Given the description of an element on the screen output the (x, y) to click on. 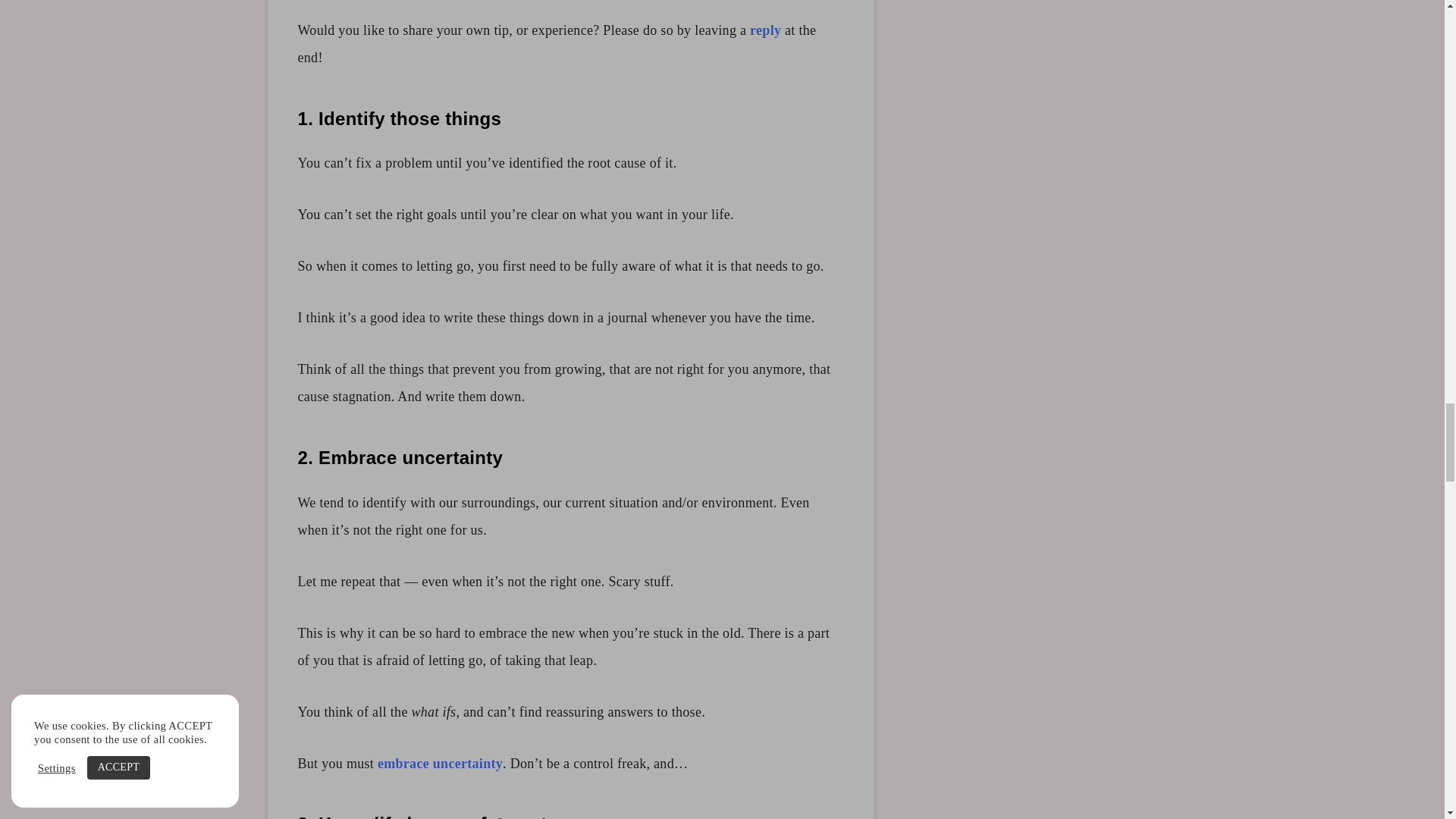
reply (764, 29)
embrace uncertainty (439, 763)
